Given the description of an element on the screen output the (x, y) to click on. 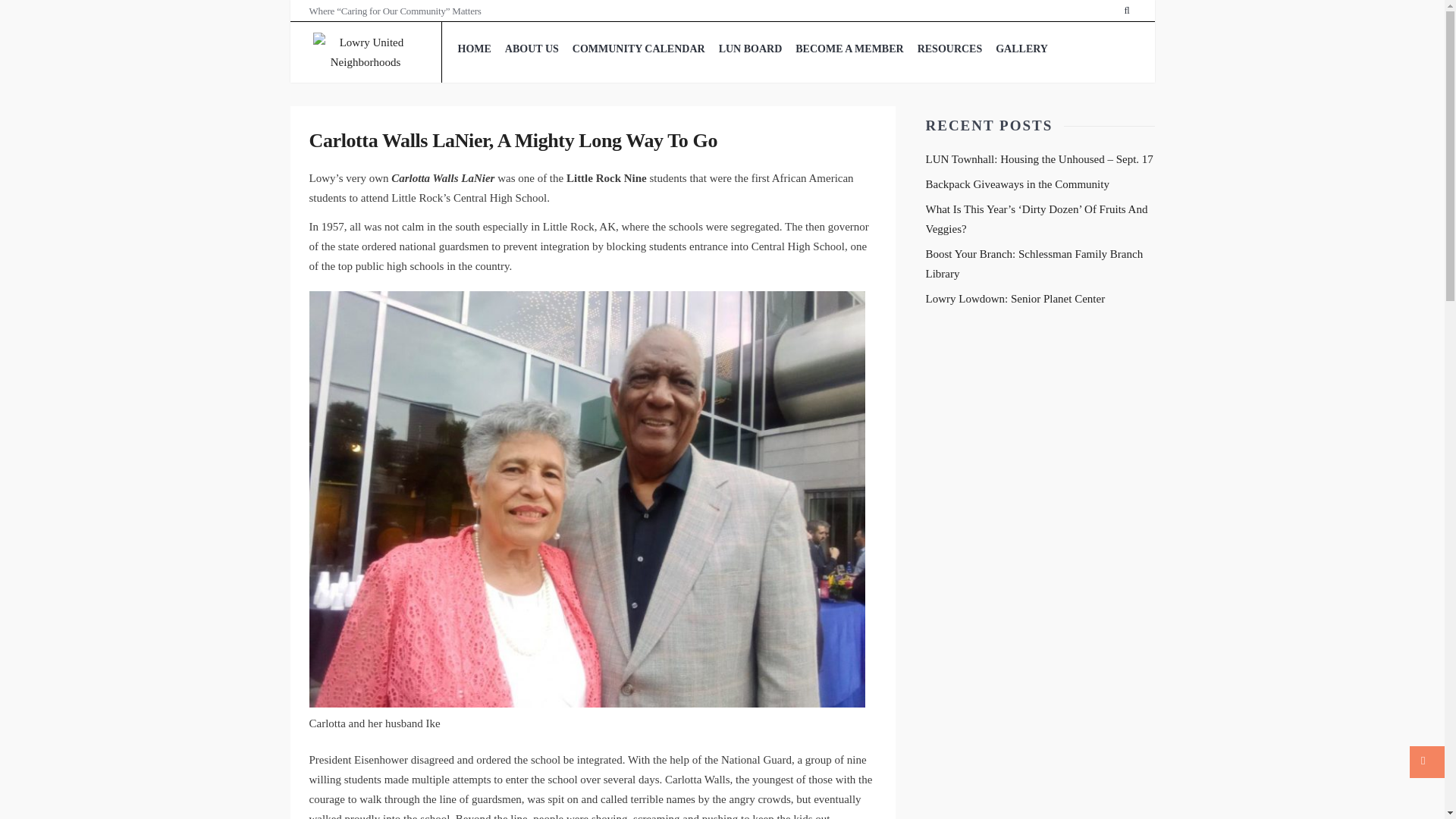
RESOURCES (950, 49)
Boost Your Branch: Schlessman Family Branch Library (1033, 264)
HOME (473, 49)
LUN BOARD (750, 49)
Carlotta Walls LaNier, A Mighty Long Way To Go (512, 140)
ABOUT US (531, 49)
Backpack Giveaways in the Community (1016, 184)
Lowry Lowdown: Senior Planet Center (1014, 298)
COMMUNITY CALENDAR (638, 49)
BECOME A MEMBER (849, 49)
